Given the description of an element on the screen output the (x, y) to click on. 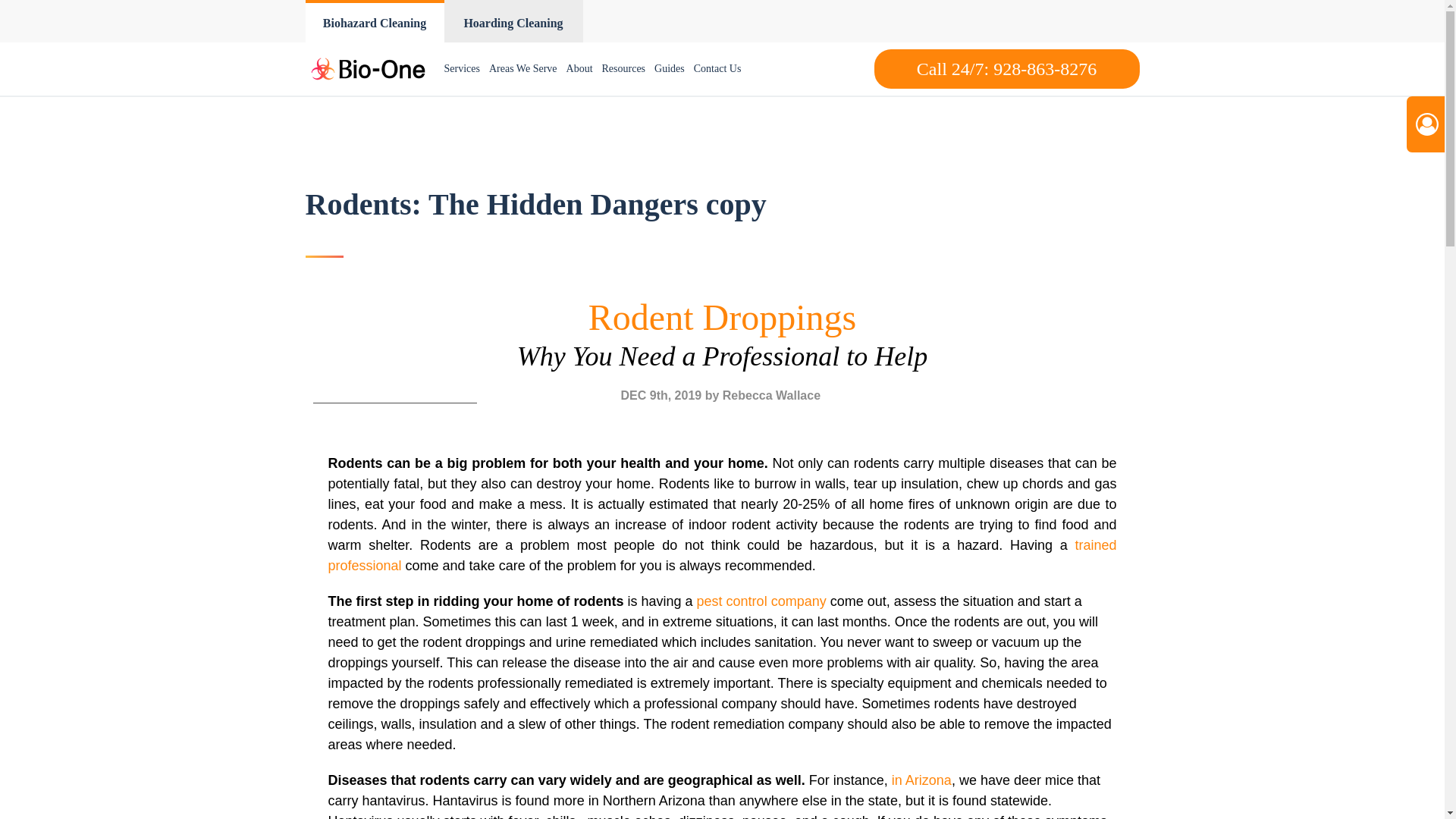
Resources (623, 68)
Biohazard Cleaning (374, 21)
Contact Us (716, 68)
Services (461, 68)
Areas We Serve (523, 68)
Hoarding Cleaning (513, 21)
